Given the description of an element on the screen output the (x, y) to click on. 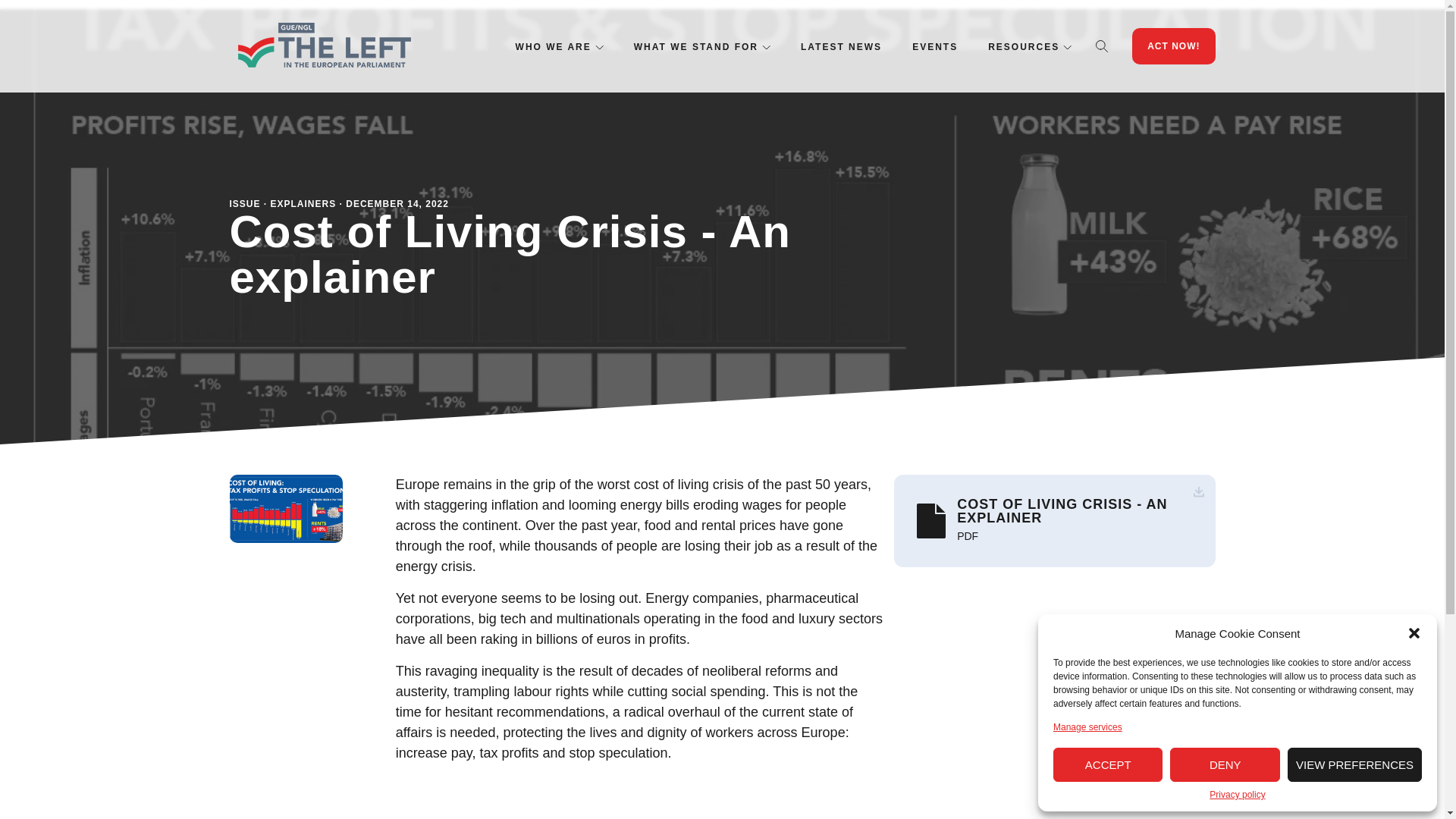
The Left (323, 45)
Search (1101, 45)
Accueil (323, 45)
DENY (1224, 764)
Privacy policy (1237, 794)
WHO WE ARE (553, 46)
Search (1101, 45)
Manage services (1087, 726)
LATEST NEWS (841, 46)
VIEW PREFERENCES (1354, 764)
EVENTS (935, 46)
WHAT WE STAND FOR (695, 46)
RESOURCES (1023, 46)
ACCEPT (1106, 764)
